Given the description of an element on the screen output the (x, y) to click on. 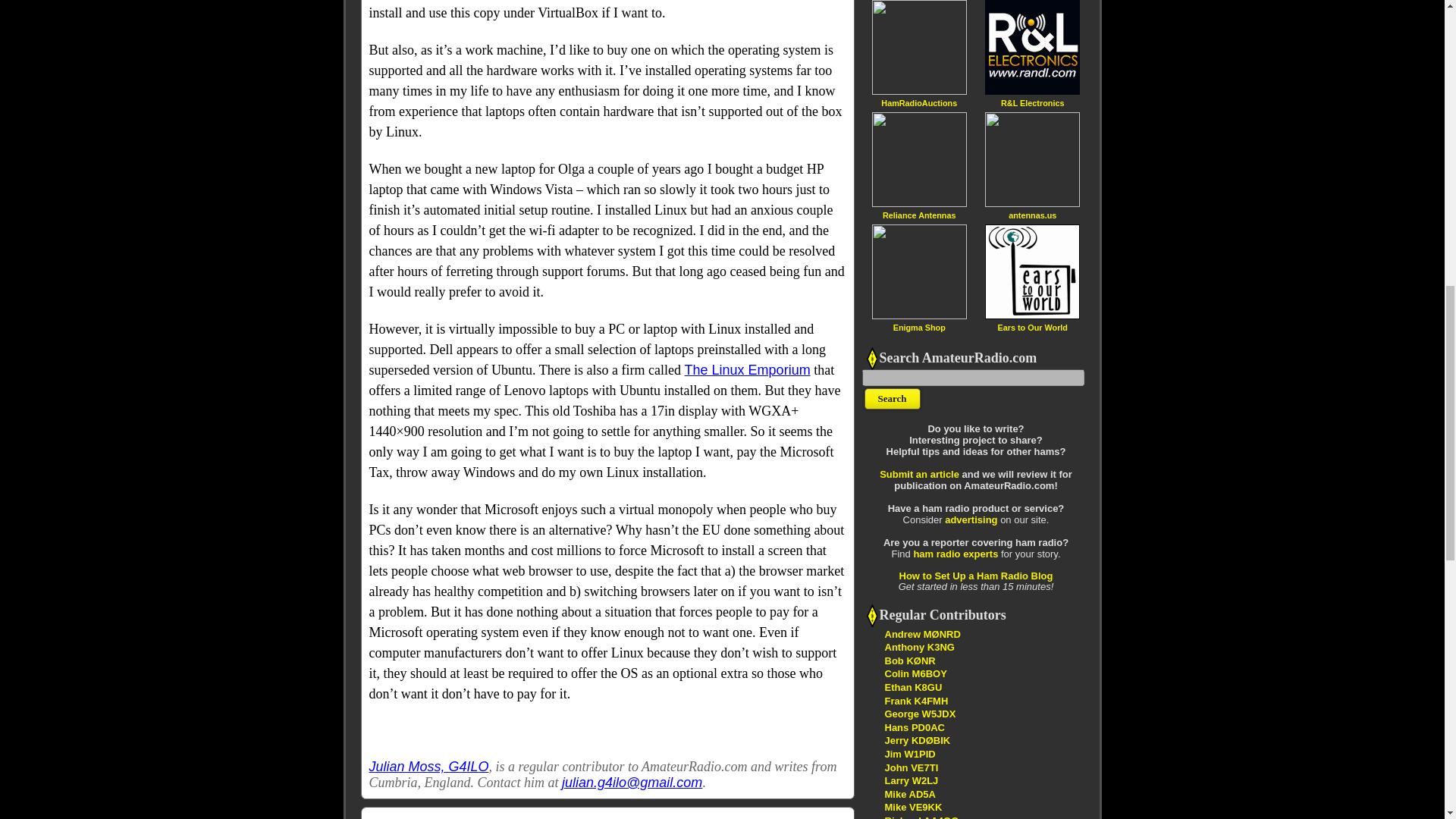
The Linux Emporium (747, 369)
Enigma Shop (918, 326)
Search (891, 398)
Reliance Antennas (918, 214)
Lower your Power  Raise your Expectations (920, 816)
MY HAM RADIO EXPERIENCES (908, 794)
Entertain, Encourage, Educate and Inspire (916, 740)
Julian Moss, G4ILO (427, 766)
HamRadioAuctions (918, 102)
Thoughts of a Dutch radio amateur (913, 727)
